Given the description of an element on the screen output the (x, y) to click on. 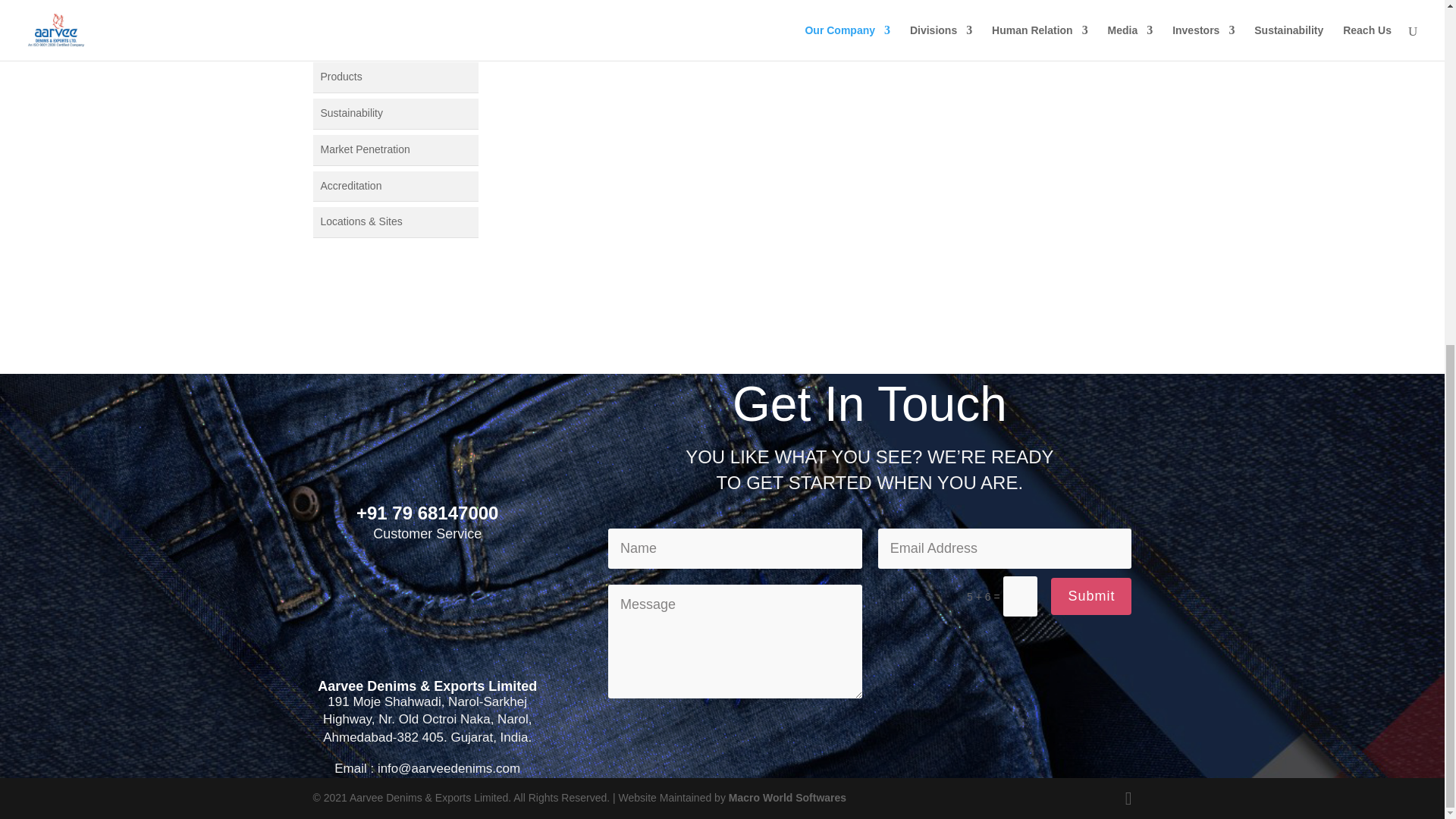
Name (734, 548)
Email Address (1004, 548)
